Given the description of an element on the screen output the (x, y) to click on. 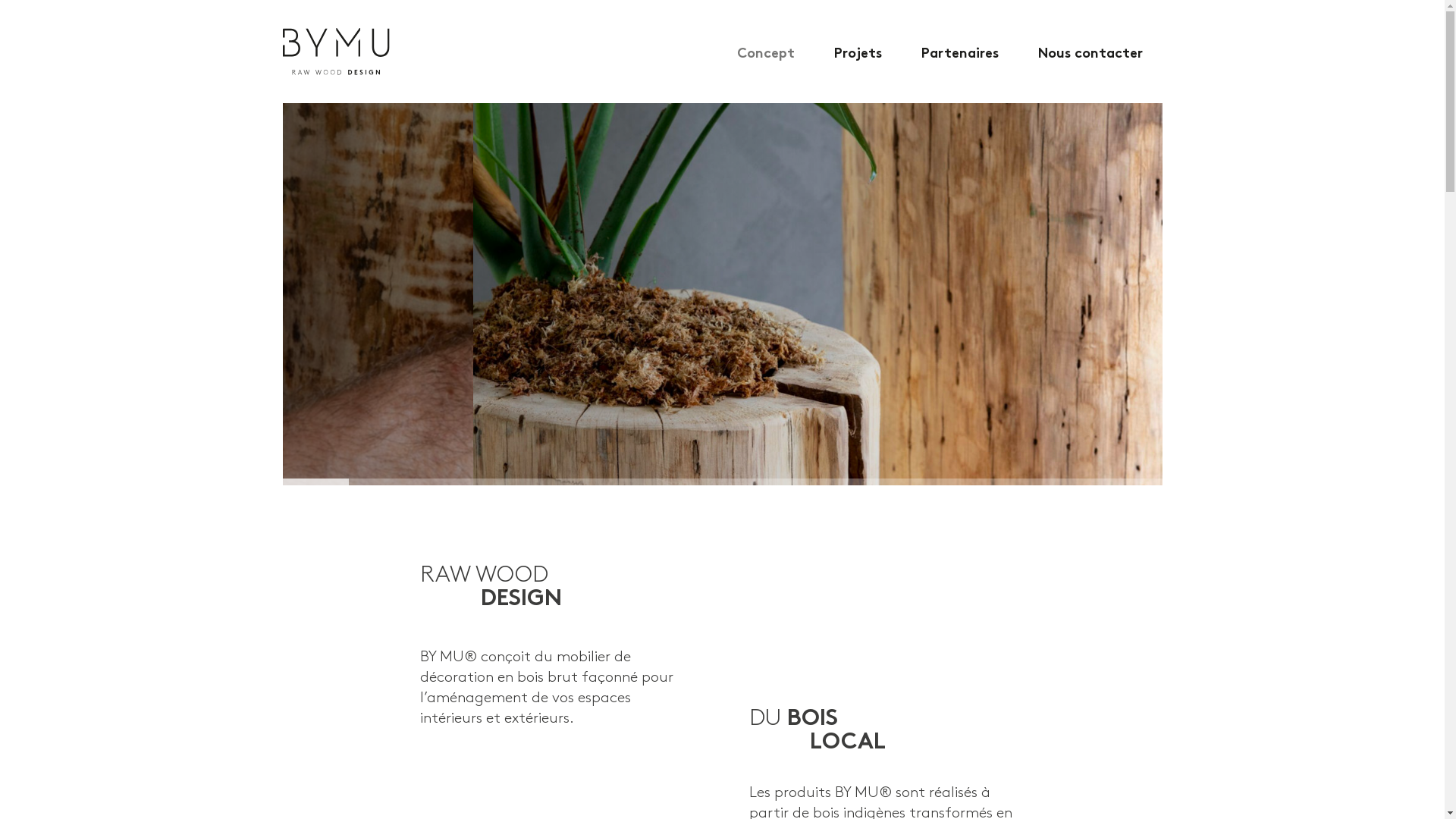
Nous contacter Element type: text (1089, 50)
Concept Element type: text (765, 50)
Partenaires Element type: text (958, 50)
Projets Element type: text (857, 50)
